Given the description of an element on the screen output the (x, y) to click on. 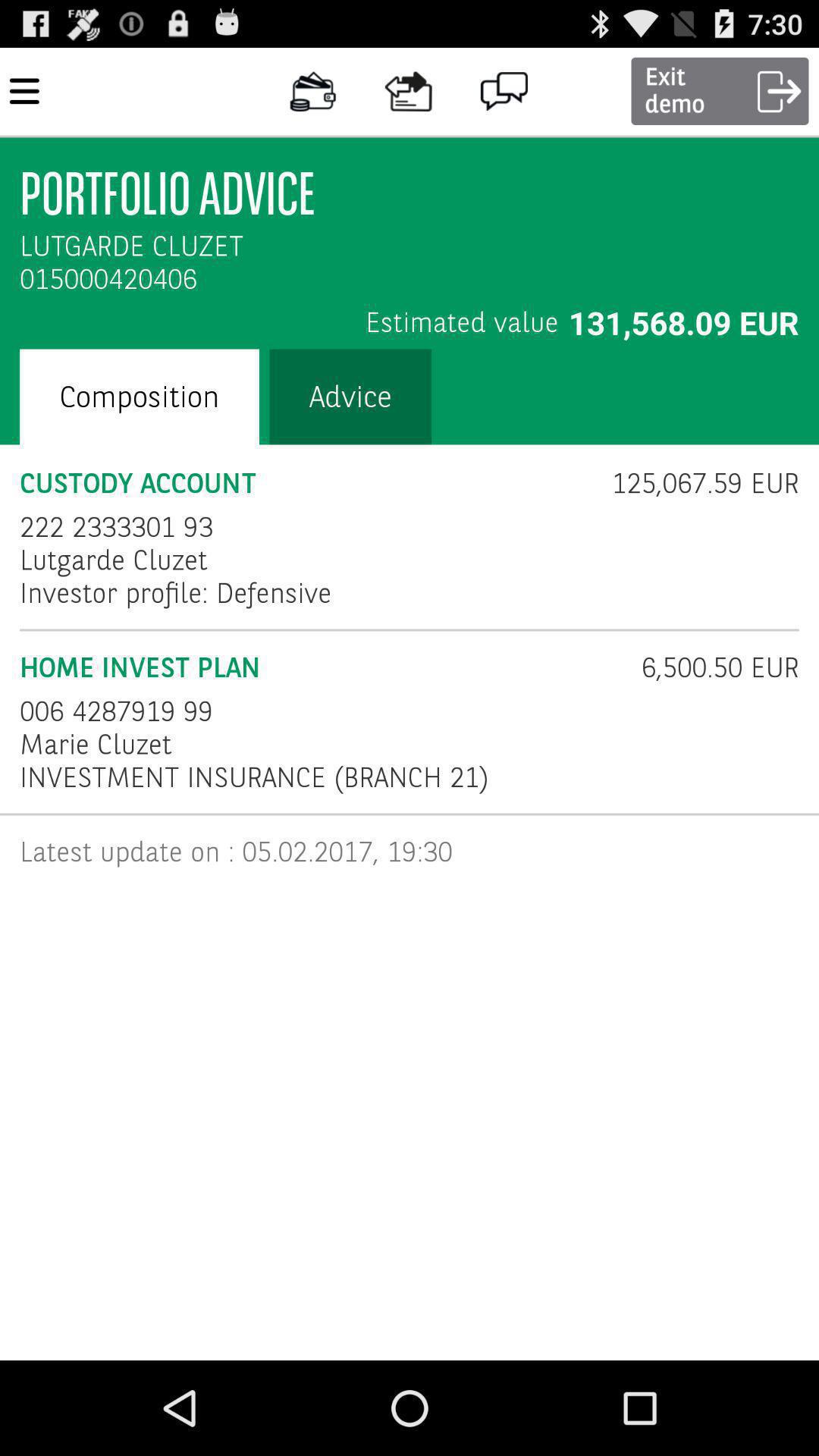
choose the item next to 125 067 59 (116, 526)
